Given the description of an element on the screen output the (x, y) to click on. 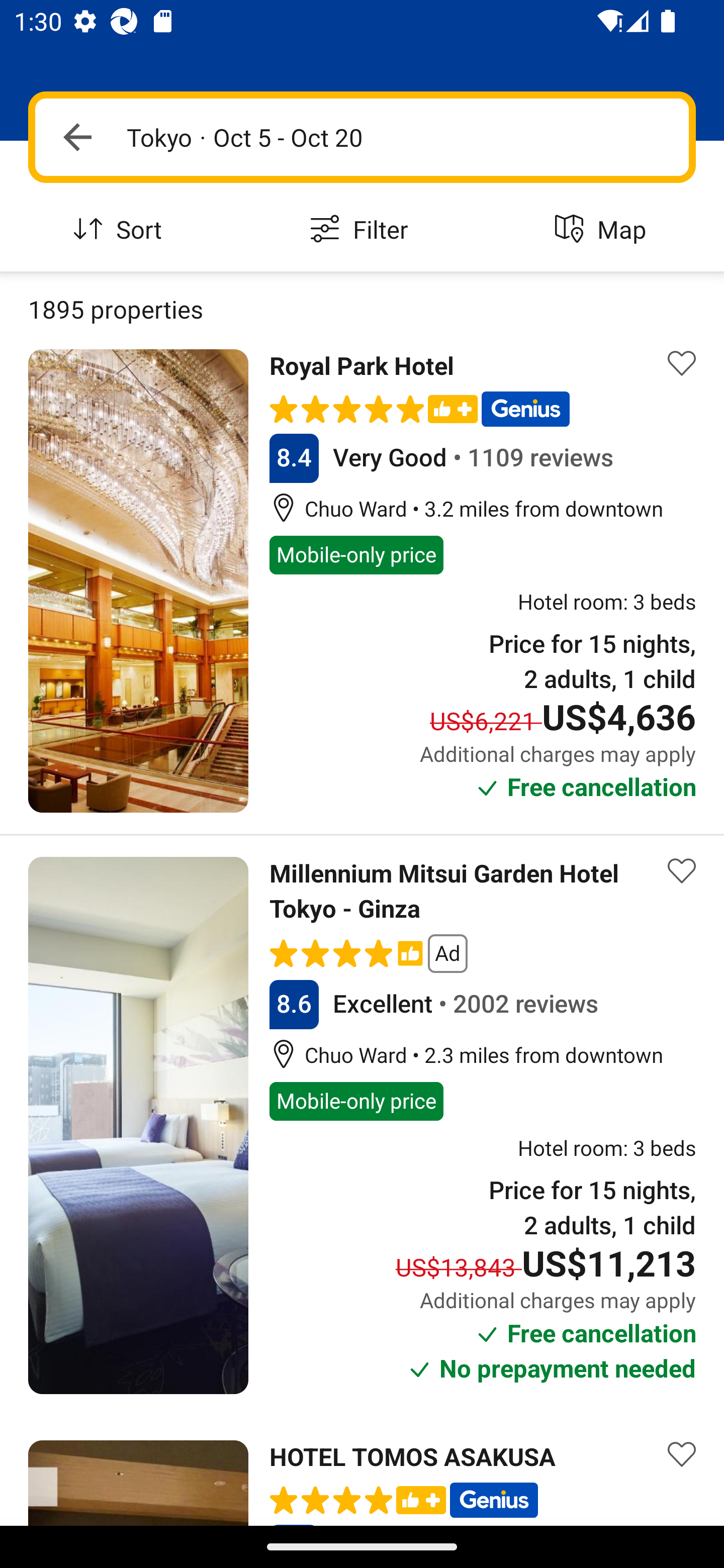
Navigate up Tokyo · Oct 5 - Oct 20 (362, 136)
Navigate up (77, 136)
Sort (120, 230)
Filter (361, 230)
Map (603, 230)
Save property to list (681, 363)
Save property to list (681, 870)
Save property to list (681, 1453)
